Given the description of an element on the screen output the (x, y) to click on. 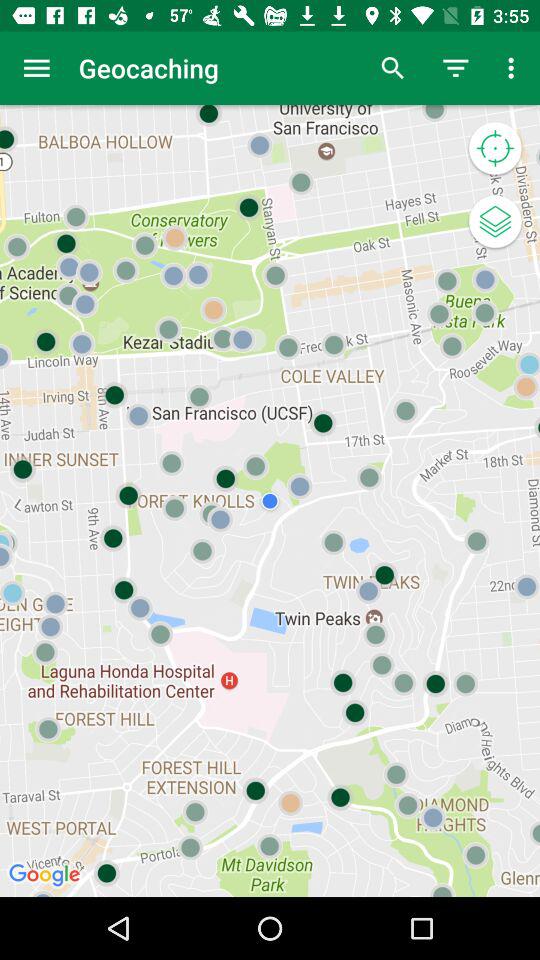
launch icon at the center (270, 500)
